Given the description of an element on the screen output the (x, y) to click on. 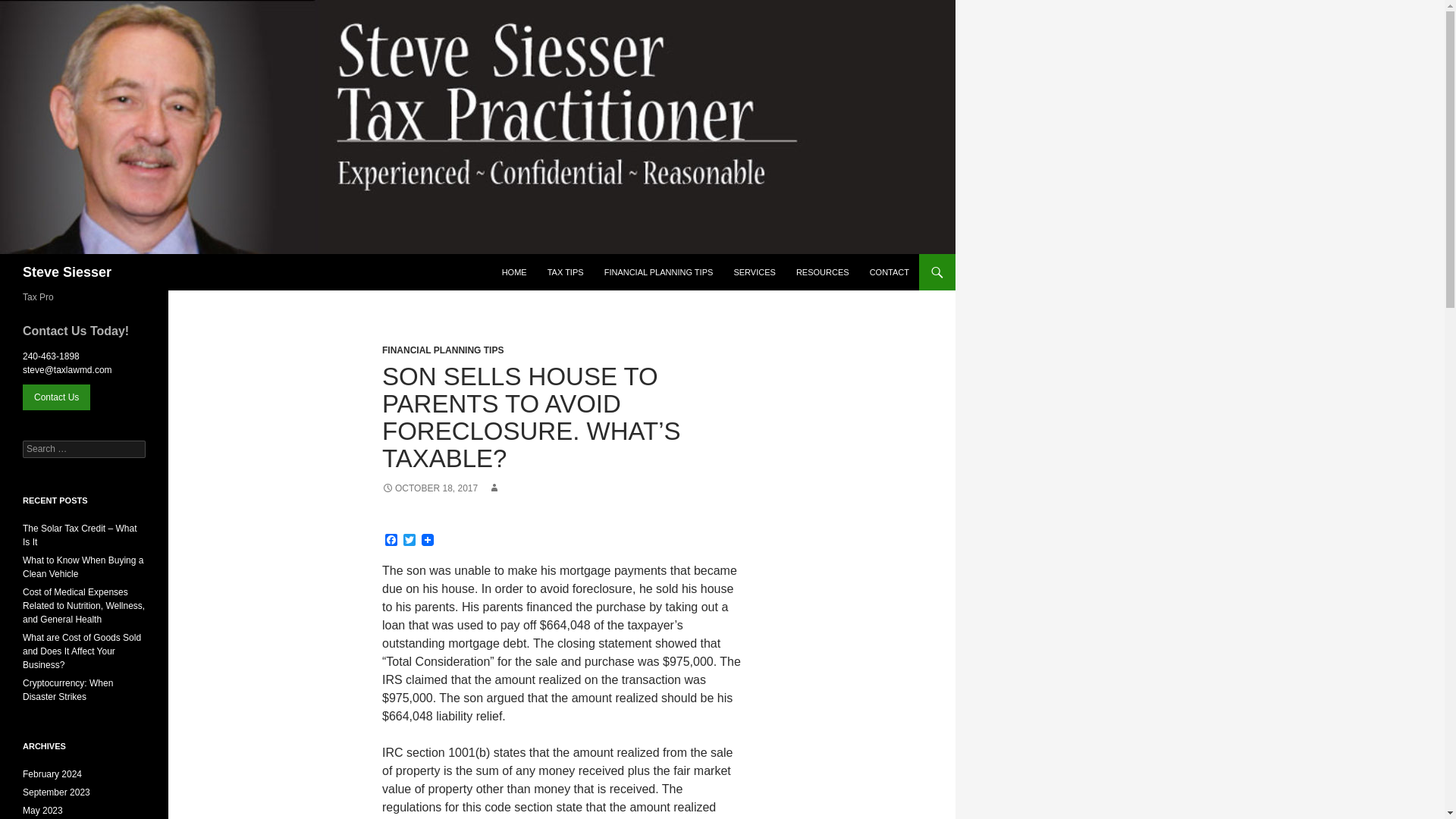
FINANCIAL PLANNING TIPS (442, 349)
What to Know When Buying a Clean Vehicle (82, 567)
HOME (514, 271)
240-463-1898 (51, 356)
Steve Siesser (67, 271)
Contact Us (56, 397)
Facebook (390, 540)
Cryptocurrency: When Disaster Strikes (68, 689)
February 2024 (52, 774)
May 2023 (42, 810)
OCTOBER 18, 2017 (429, 488)
FINANCIAL PLANNING TIPS (658, 271)
September 2023 (56, 792)
CONTACT (889, 271)
